Given the description of an element on the screen output the (x, y) to click on. 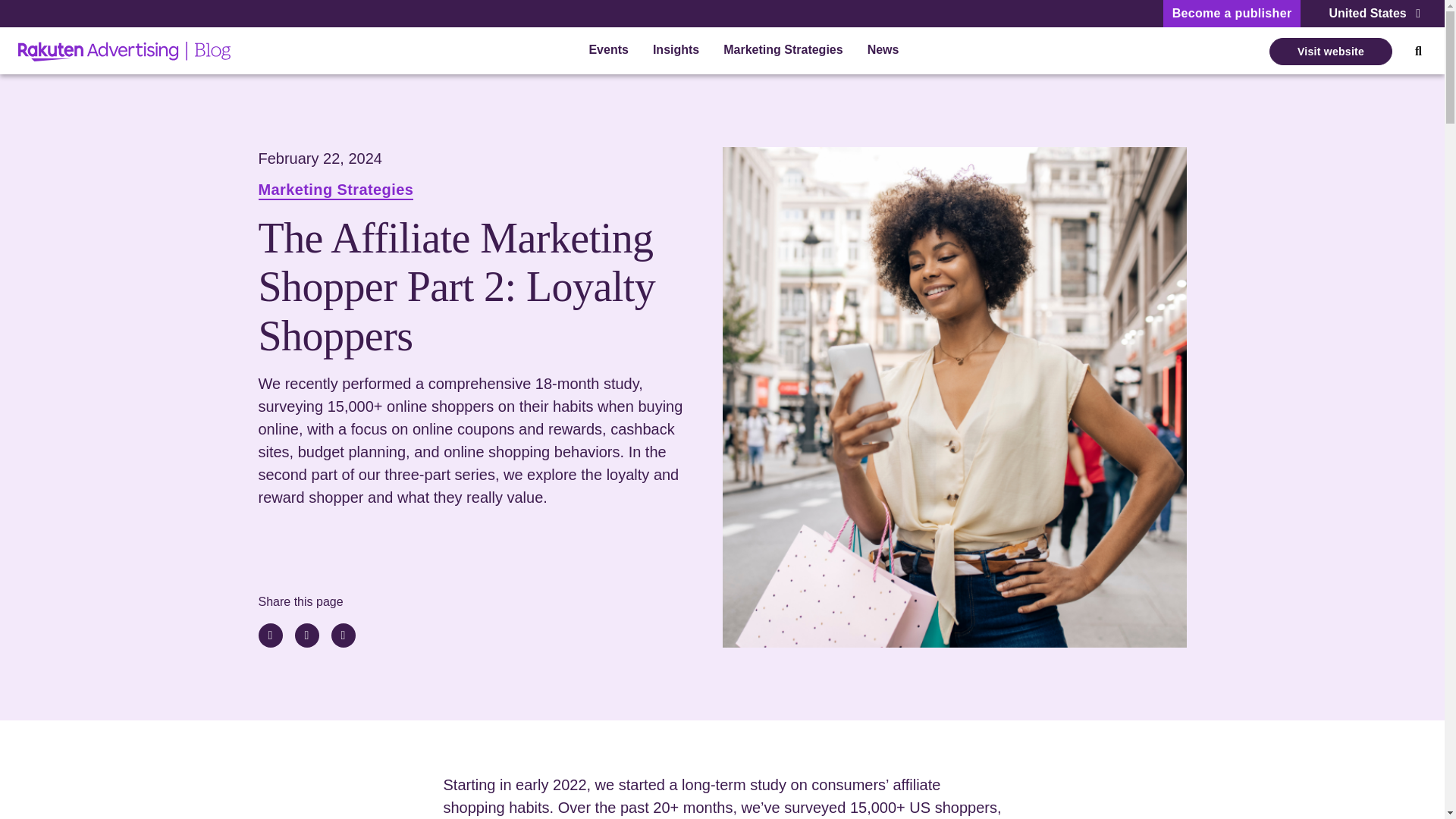
Share on Twitter (306, 635)
Become a publisher (1232, 13)
Search the Blog (1418, 51)
Share on Twitter (306, 635)
United States (1374, 13)
Share on Facebook (342, 635)
Share on Facebook (342, 635)
Insights (675, 51)
Share on LinkedIn (269, 635)
Visit website (1330, 51)
Marketing Strategies (335, 191)
Marketing Strategies (783, 51)
Share on LinkedIn (269, 635)
